Given the description of an element on the screen output the (x, y) to click on. 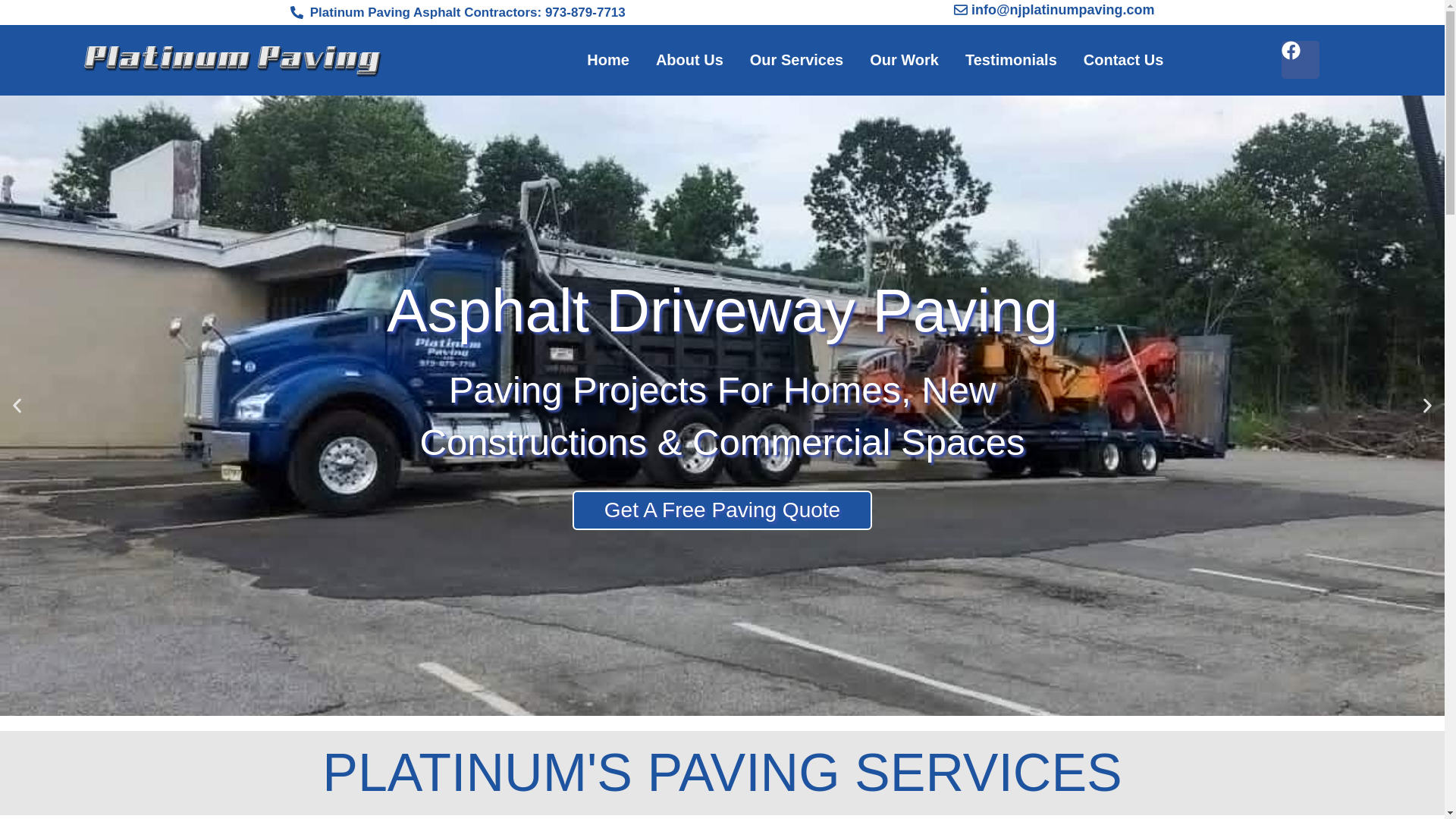
Contact Us (1123, 59)
Testimonials (1011, 59)
Platinum Paving Asphalt Contractors: 973-879-7713 (505, 12)
Our Services (796, 59)
Home (607, 59)
Our Work (904, 59)
Facebook (1300, 59)
About Us (689, 59)
